Given the description of an element on the screen output the (x, y) to click on. 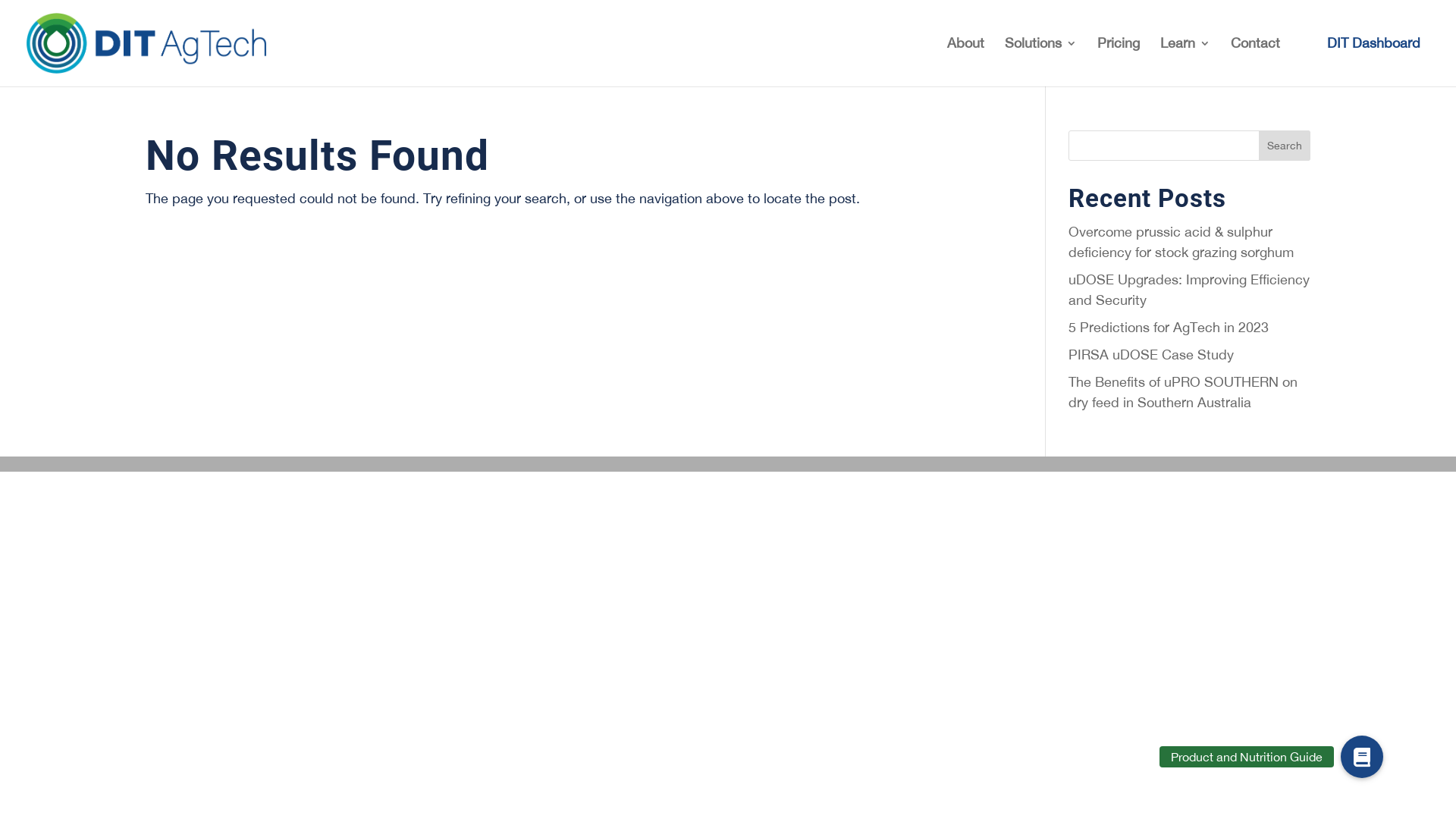
Solutions Element type: text (1040, 61)
About Element type: text (965, 61)
Pricing Element type: text (1118, 61)
Search Element type: text (1284, 145)
DIT Dashboard Element type: text (1365, 42)
uDOSE Upgrades: Improving Efficiency and Security Element type: text (1188, 289)
5 Predictions for AgTech in 2023 Element type: text (1168, 327)
Learn Element type: text (1185, 61)
Product and Nutrition Guide Element type: text (1361, 756)
PIRSA uDOSE Case Study Element type: text (1150, 354)
Contact Element type: text (1255, 61)
